Given the description of an element on the screen output the (x, y) to click on. 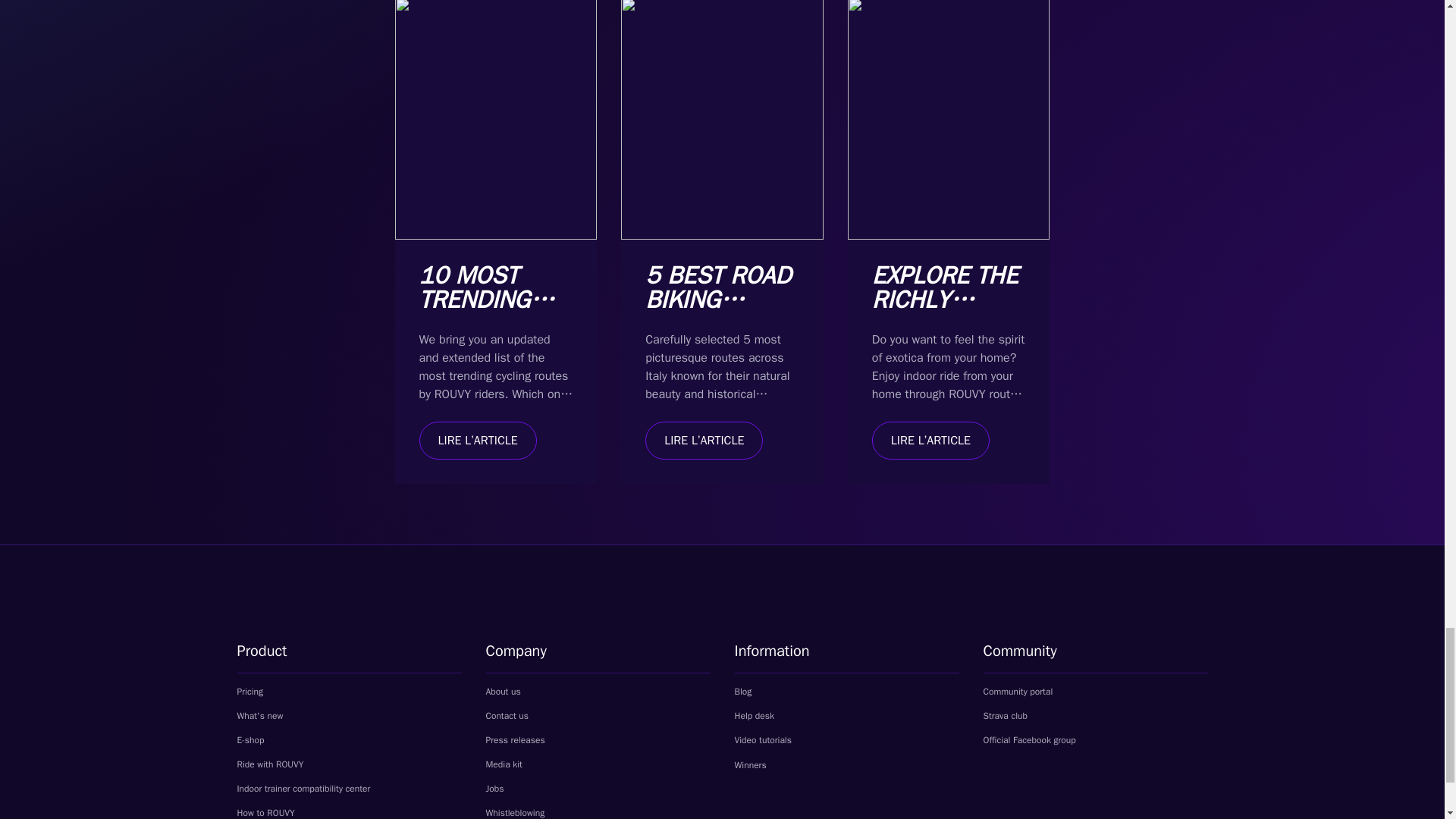
Whistleblowing (521, 812)
10 MOST TRENDING ROUTES ON ROUVY RIGHT NOW (491, 324)
EXPLORE THE RICHLY EXOTIC NATURAL WONDERS OF VIETNAM (944, 336)
What's new (258, 715)
Press releases (514, 739)
Ride with ROUVY (268, 764)
How to ROUVY (271, 812)
E-shop (257, 739)
Contact us (506, 715)
About us (501, 691)
Indoor trainer compatibility center (302, 788)
Pricing (249, 691)
Jobs (493, 788)
Media kit (510, 764)
